Given the description of an element on the screen output the (x, y) to click on. 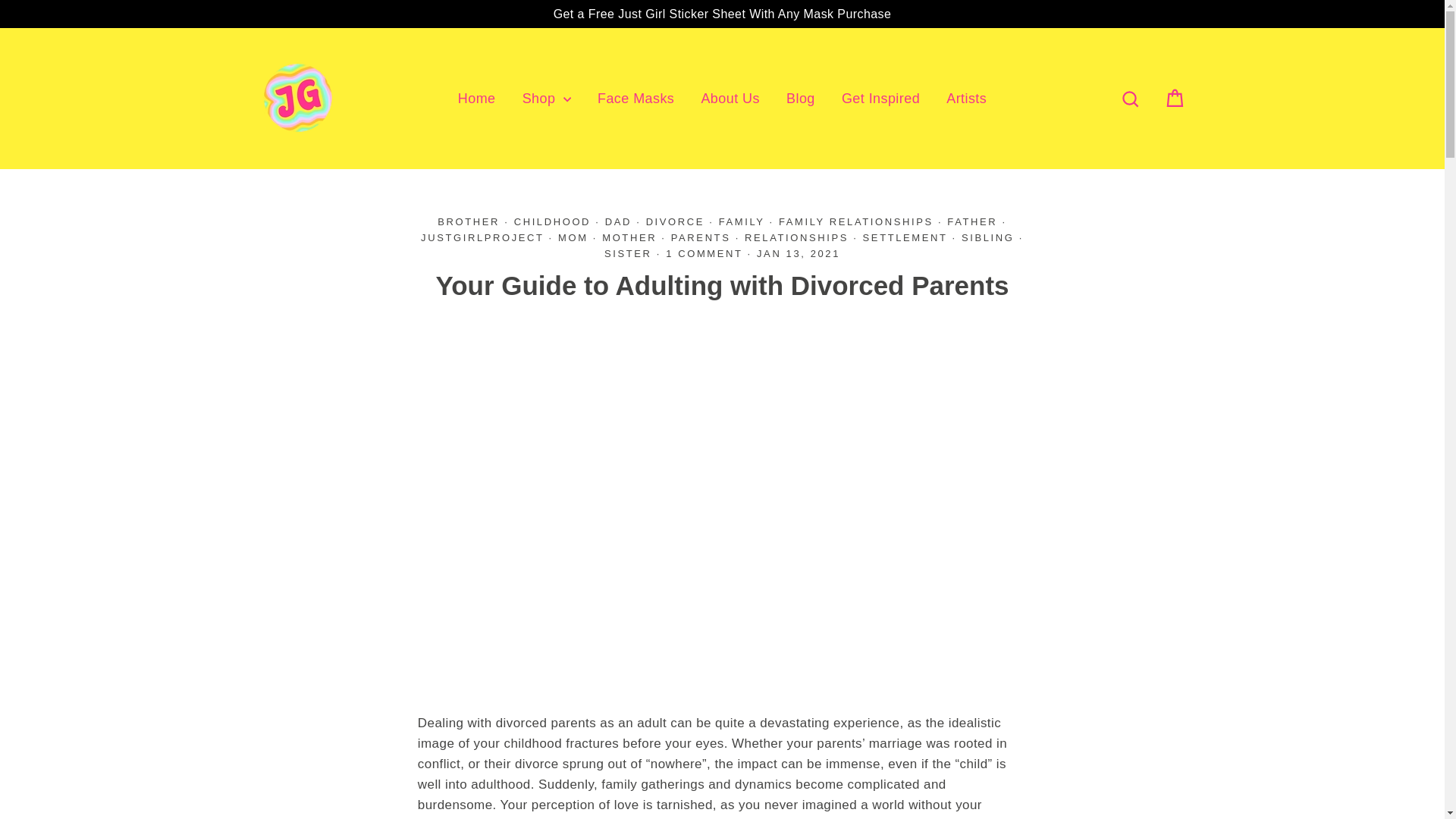
Get Inspired (880, 98)
Artists (965, 98)
Shop (546, 98)
Face Masks (635, 98)
Home (476, 98)
Search (1130, 98)
Blog (800, 98)
About Us (729, 98)
